Given the description of an element on the screen output the (x, y) to click on. 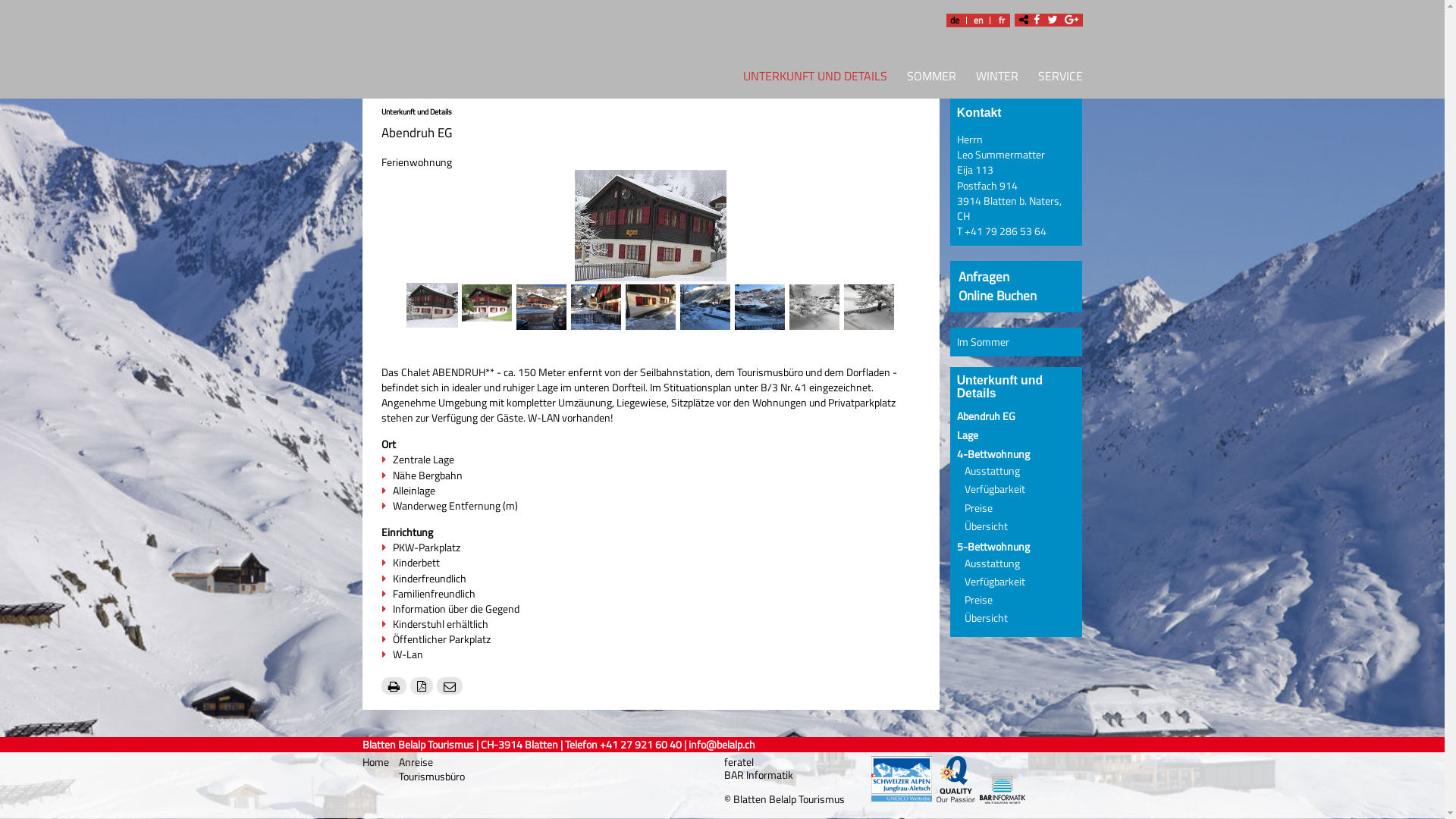
en Element type: text (977, 19)
Lage Element type: text (967, 434)
Ausstattung Element type: text (991, 563)
fr Element type: text (1001, 19)
de Element type: text (954, 19)
WINTER Element type: text (997, 78)
Abendruh EG Element type: text (986, 415)
4-Bettwohnung Element type: text (993, 453)
feratel Element type: text (738, 761)
UNTERKUNFT UND DETAILS Element type: text (809, 78)
Unterkunft und Details Element type: text (415, 111)
Anreise Element type: text (415, 761)
info@belalp.ch Element type: text (721, 744)
Ausstattung Element type: text (991, 470)
SERVICE Element type: text (1055, 78)
Home Element type: text (376, 761)
Online Buchen Element type: text (997, 295)
Anfragen Element type: text (983, 276)
SOMMER Element type: text (930, 78)
5-Bettwohnung Element type: text (993, 546)
Preise Element type: text (978, 506)
Im Sommer Element type: text (983, 341)
Preise Element type: text (978, 599)
BAR Informatik Element type: text (758, 774)
